Given the description of an element on the screen output the (x, y) to click on. 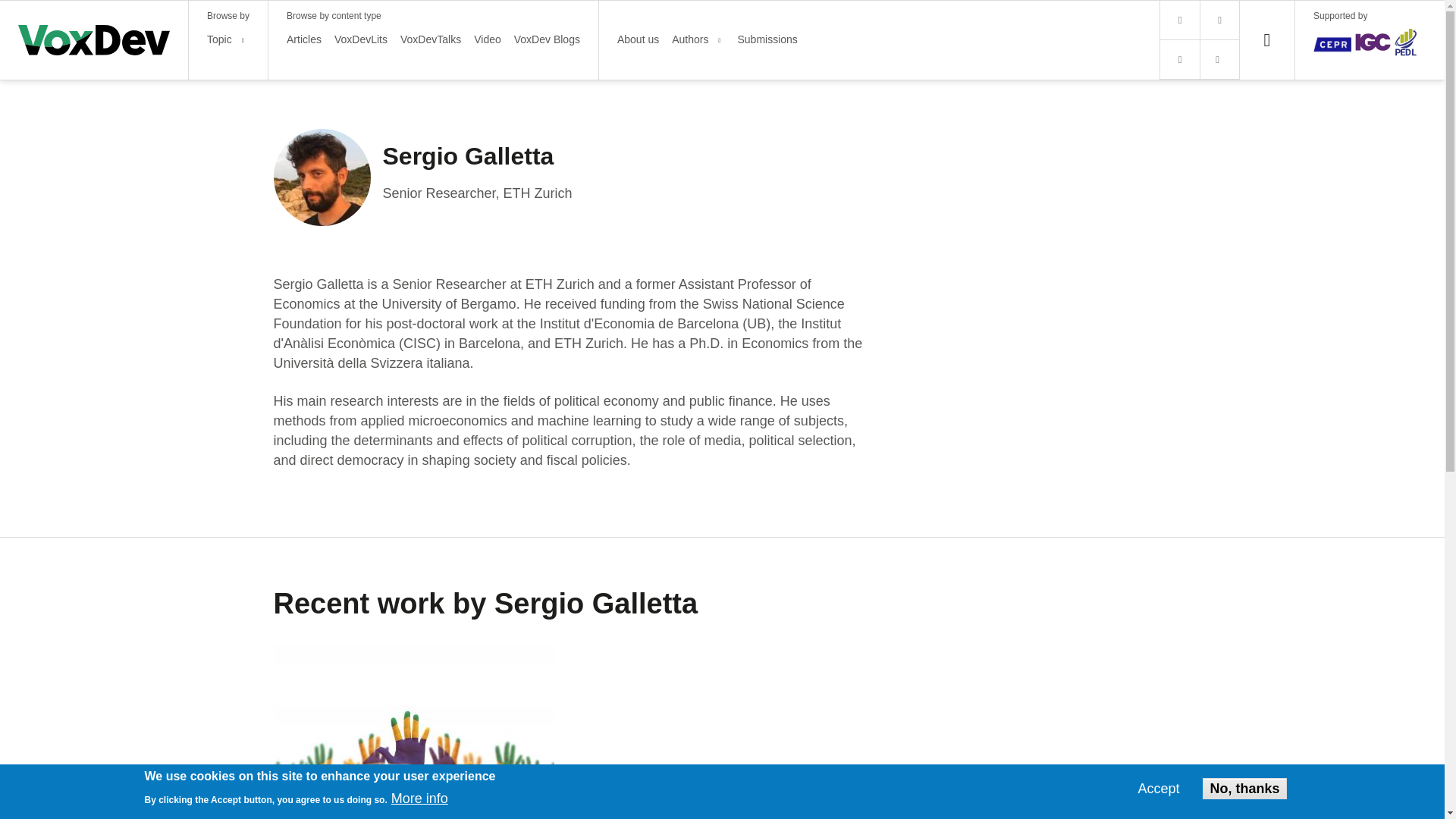
Submissions (766, 39)
VoxDev Blogs (546, 39)
VoxDevTalks (430, 39)
Authors (689, 39)
About us (638, 39)
Articles (303, 39)
Video (487, 39)
VoxDevLits (360, 39)
